Given the description of an element on the screen output the (x, y) to click on. 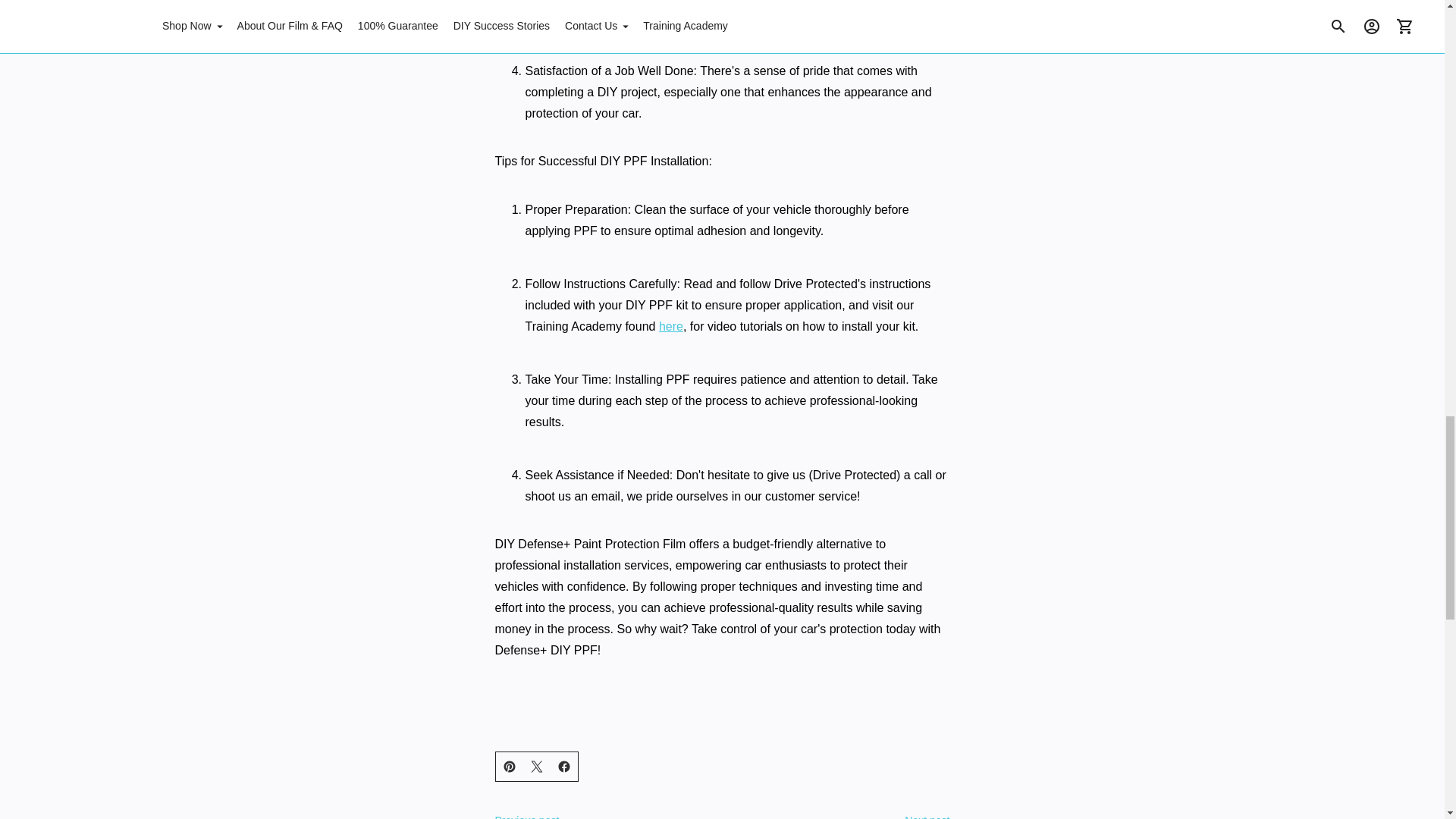
Share to twitter (536, 766)
Share to Facebook (564, 766)
Share to Pinterest (509, 766)
